Given the description of an element on the screen output the (x, y) to click on. 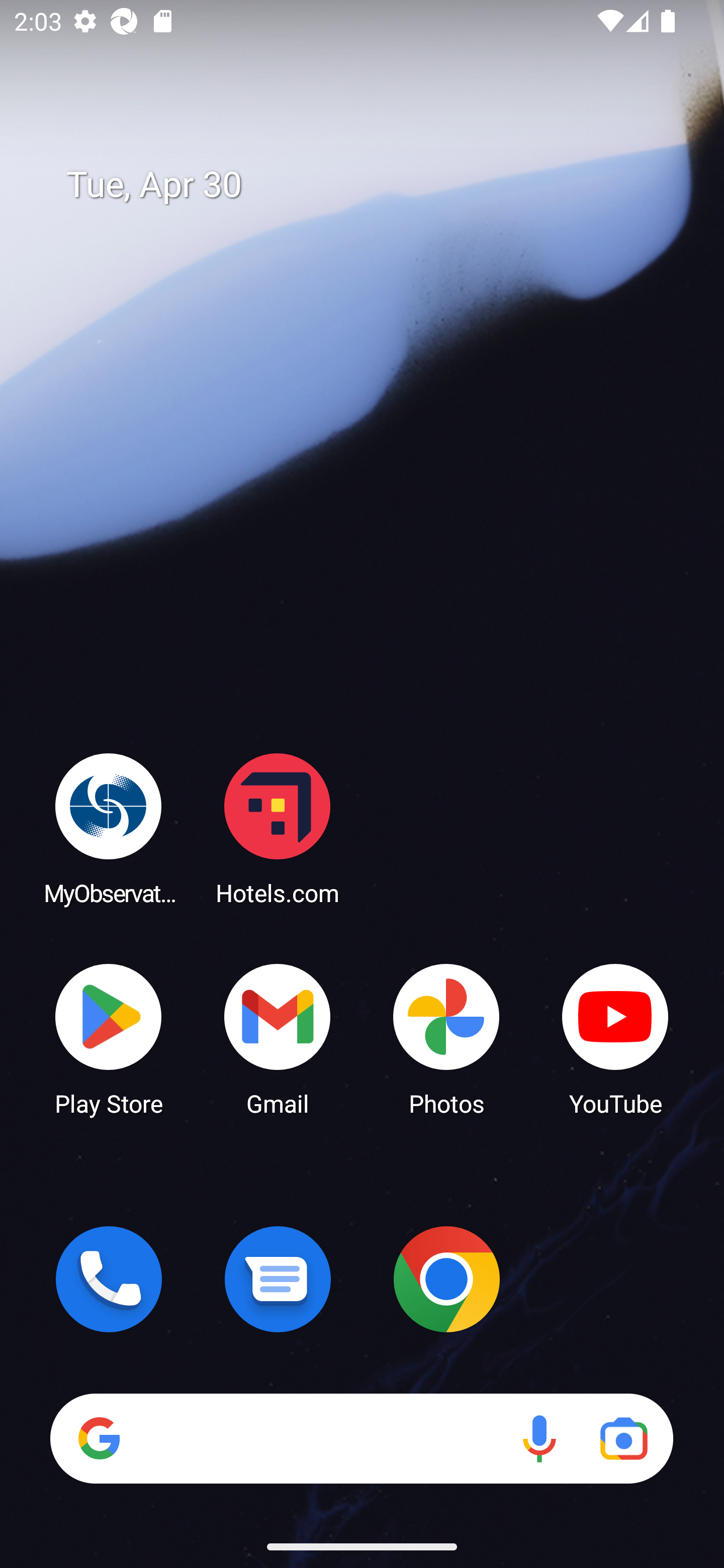
Tue, Apr 30 (375, 184)
MyObservatory (108, 828)
Hotels.com (277, 828)
Play Store (108, 1038)
Gmail (277, 1038)
Photos (445, 1038)
YouTube (615, 1038)
Phone (108, 1279)
Messages (277, 1279)
Chrome (446, 1279)
Voice search (539, 1438)
Google Lens (623, 1438)
